Given the description of an element on the screen output the (x, y) to click on. 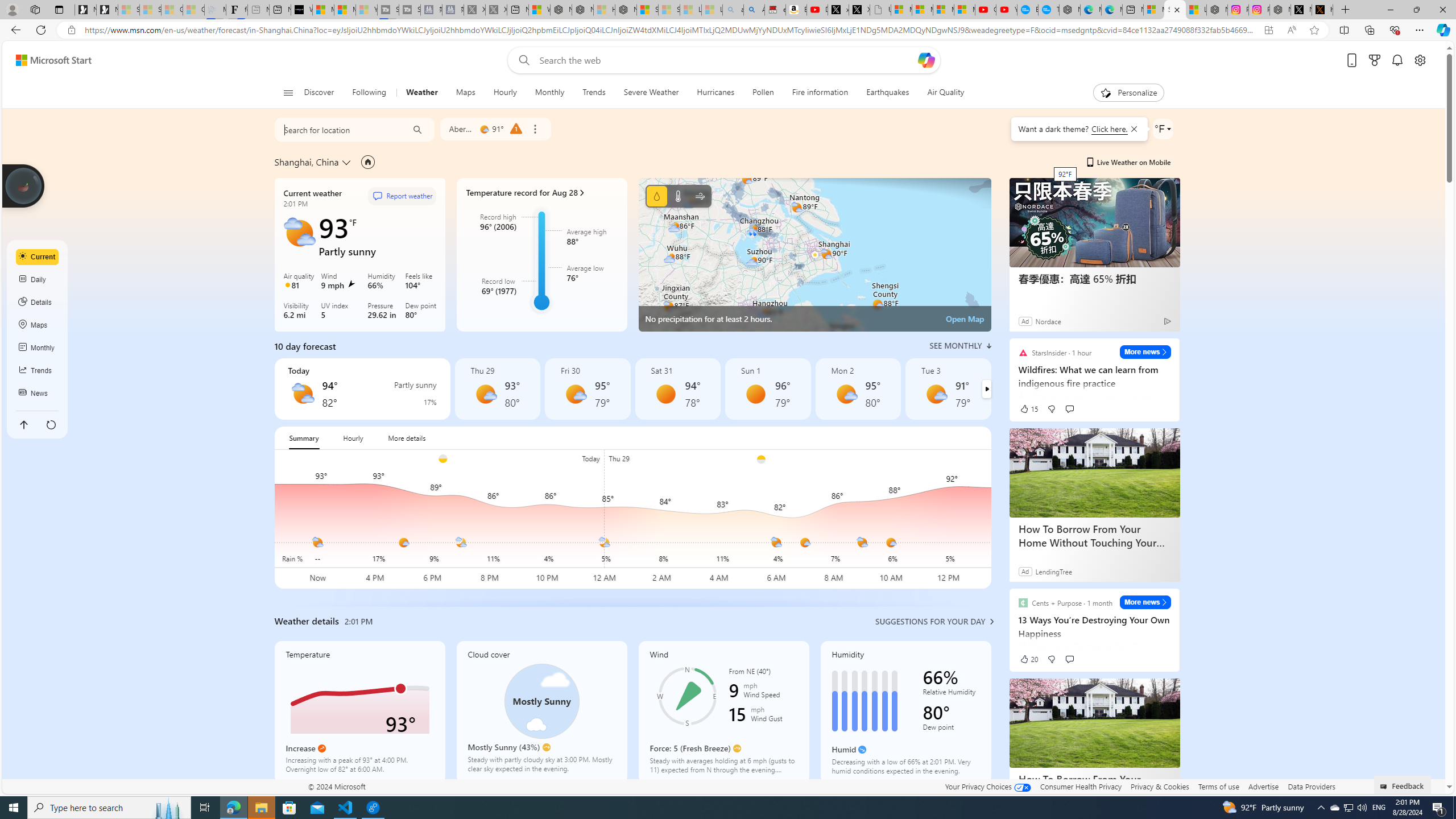
Join us in planting real trees to help our planet! (23, 184)
UV index 5 (342, 311)
More details (406, 437)
Precipitation (417, 401)
Data Providers (1311, 785)
Back to top (23, 424)
